Given the description of an element on the screen output the (x, y) to click on. 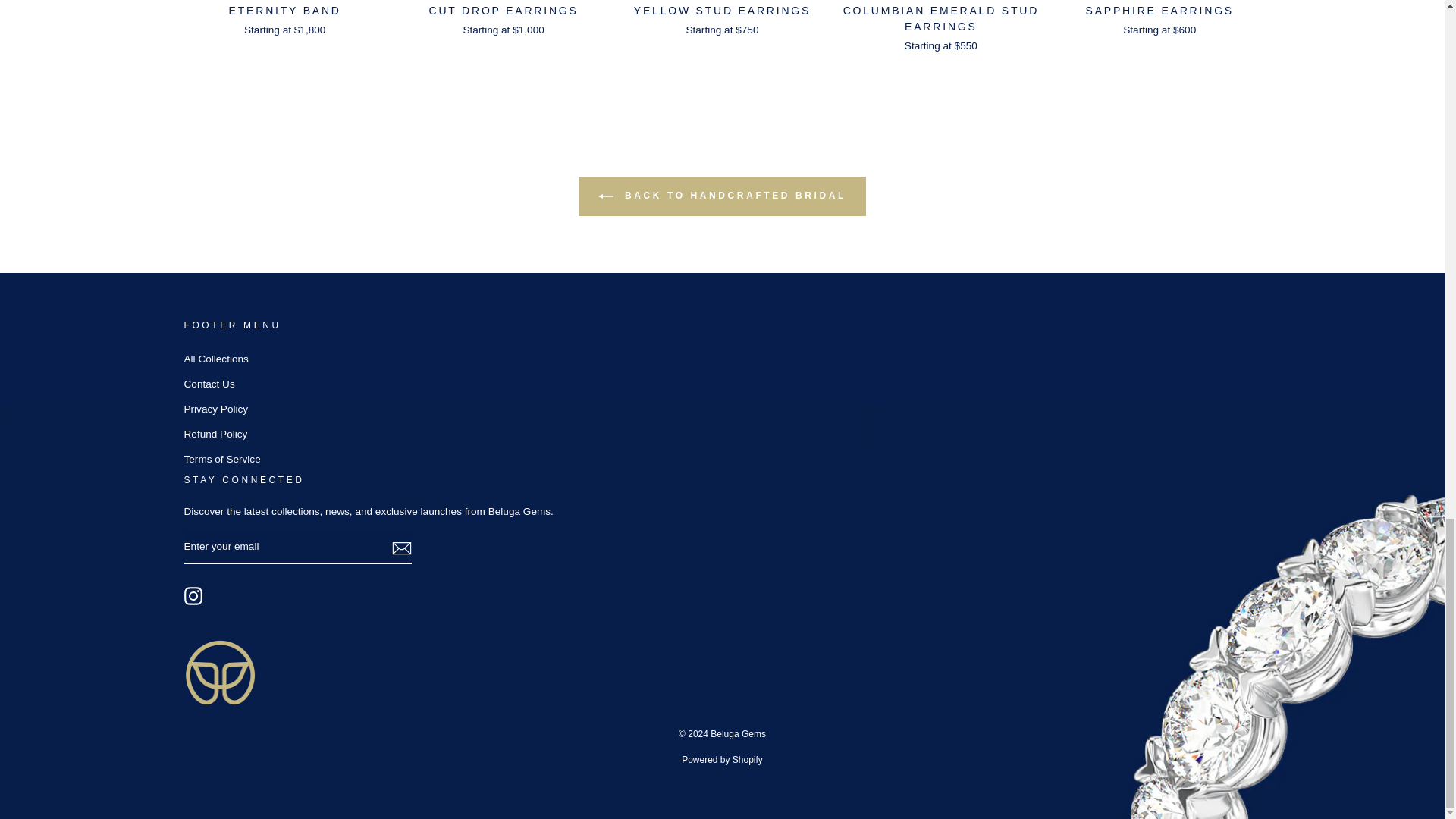
Beluga Gems on Instagram (192, 596)
